Given the description of an element on the screen output the (x, y) to click on. 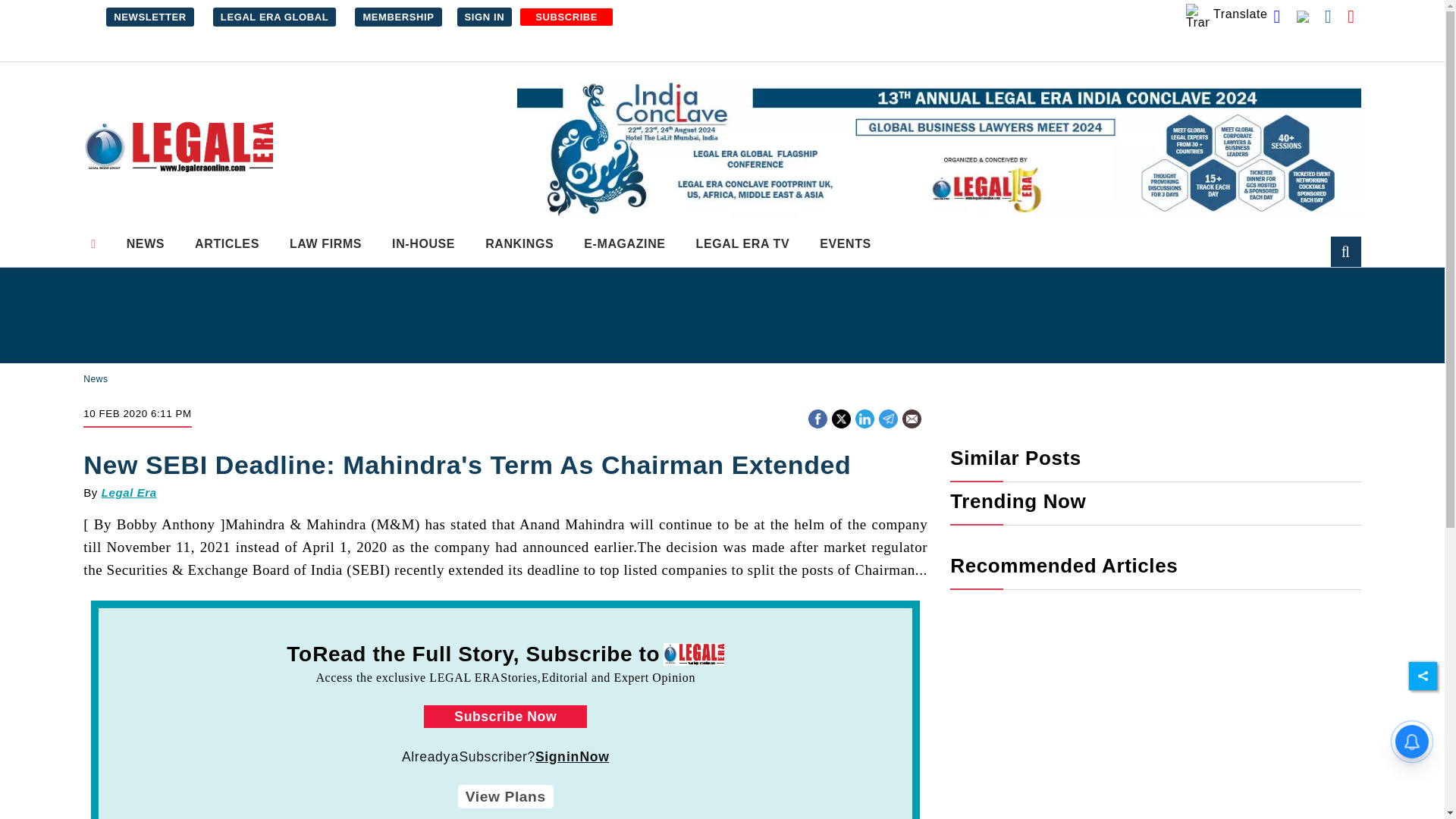
Share by Email (911, 420)
SUBSCRIBE (566, 16)
facebook (818, 418)
Twitter (840, 417)
Legal Era (177, 147)
LinkedIn (865, 417)
LEGAL ERA GLOBAL (274, 16)
SIGN IN (484, 16)
Facebook (817, 417)
linkedin (864, 418)
Translate (1227, 15)
Email (911, 418)
MEMBERSHIP (398, 16)
NEWSLETTER (149, 16)
twitter (841, 418)
